Given the description of an element on the screen output the (x, y) to click on. 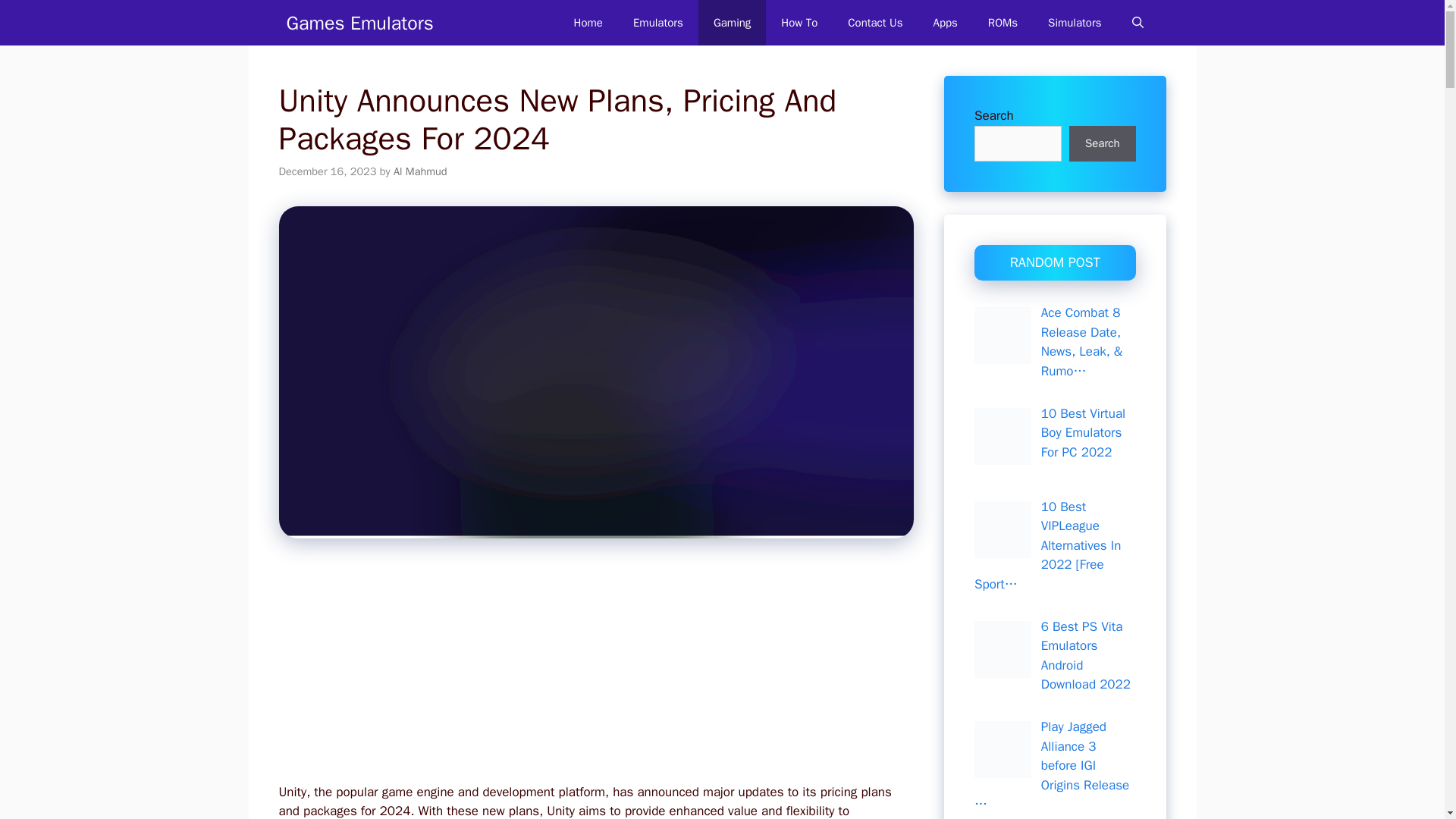
View all posts by Al Mahmud (419, 171)
ROMs (1002, 22)
Search (1101, 144)
Al Mahmud (419, 171)
6 Best PS Vita Emulators Android Download 2022 (1086, 655)
Advertisement (587, 670)
Simulators (1074, 22)
Gaming (731, 22)
How To (798, 22)
Emulators (657, 22)
